Given the description of an element on the screen output the (x, y) to click on. 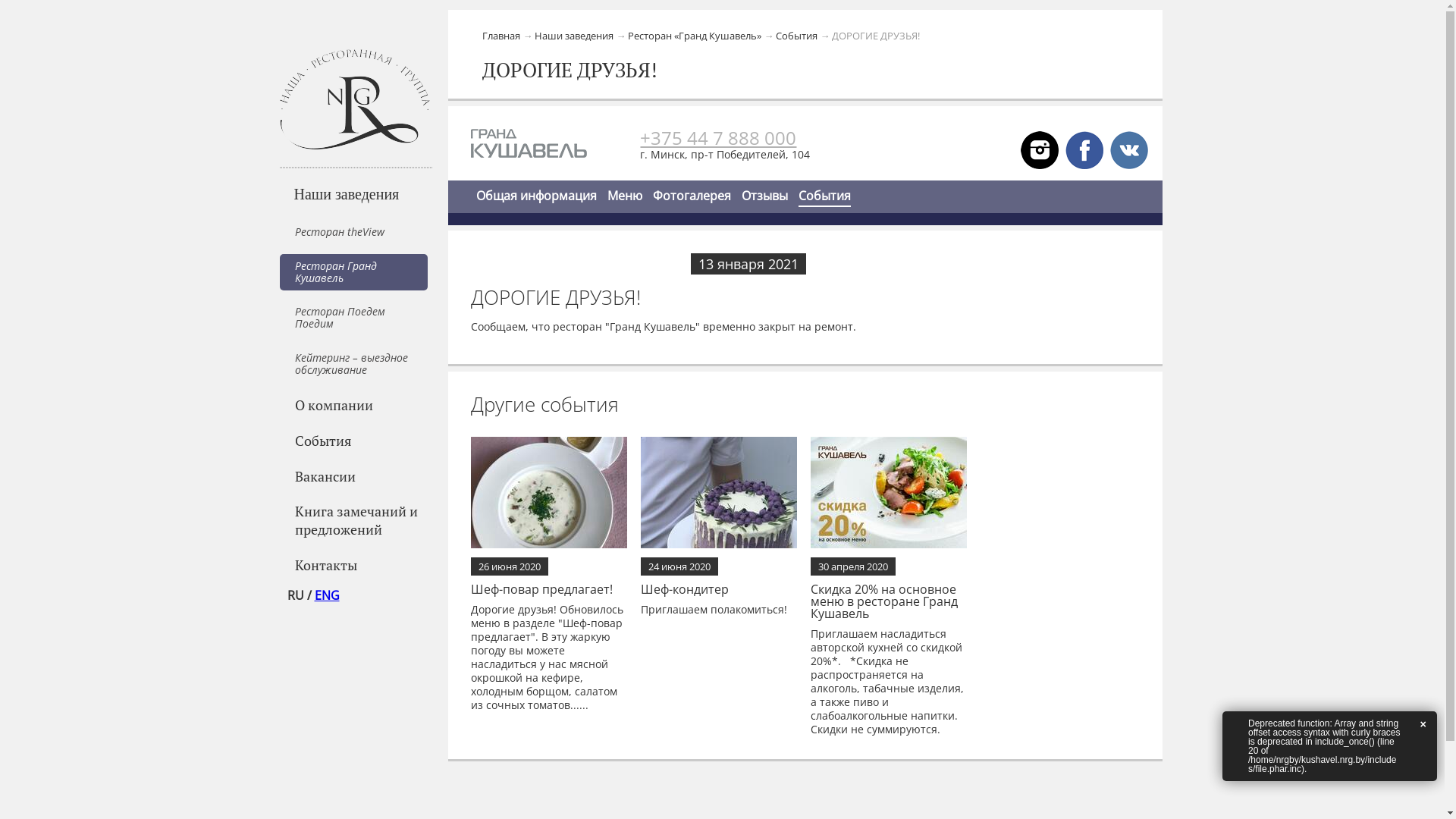
VK Element type: text (1039, 149)
VK Element type: text (1129, 149)
+375 44 7 888 000 Element type: text (718, 137)
ENG Element type: text (325, 594)
FB Element type: text (1084, 149)
